Given the description of an element on the screen output the (x, y) to click on. 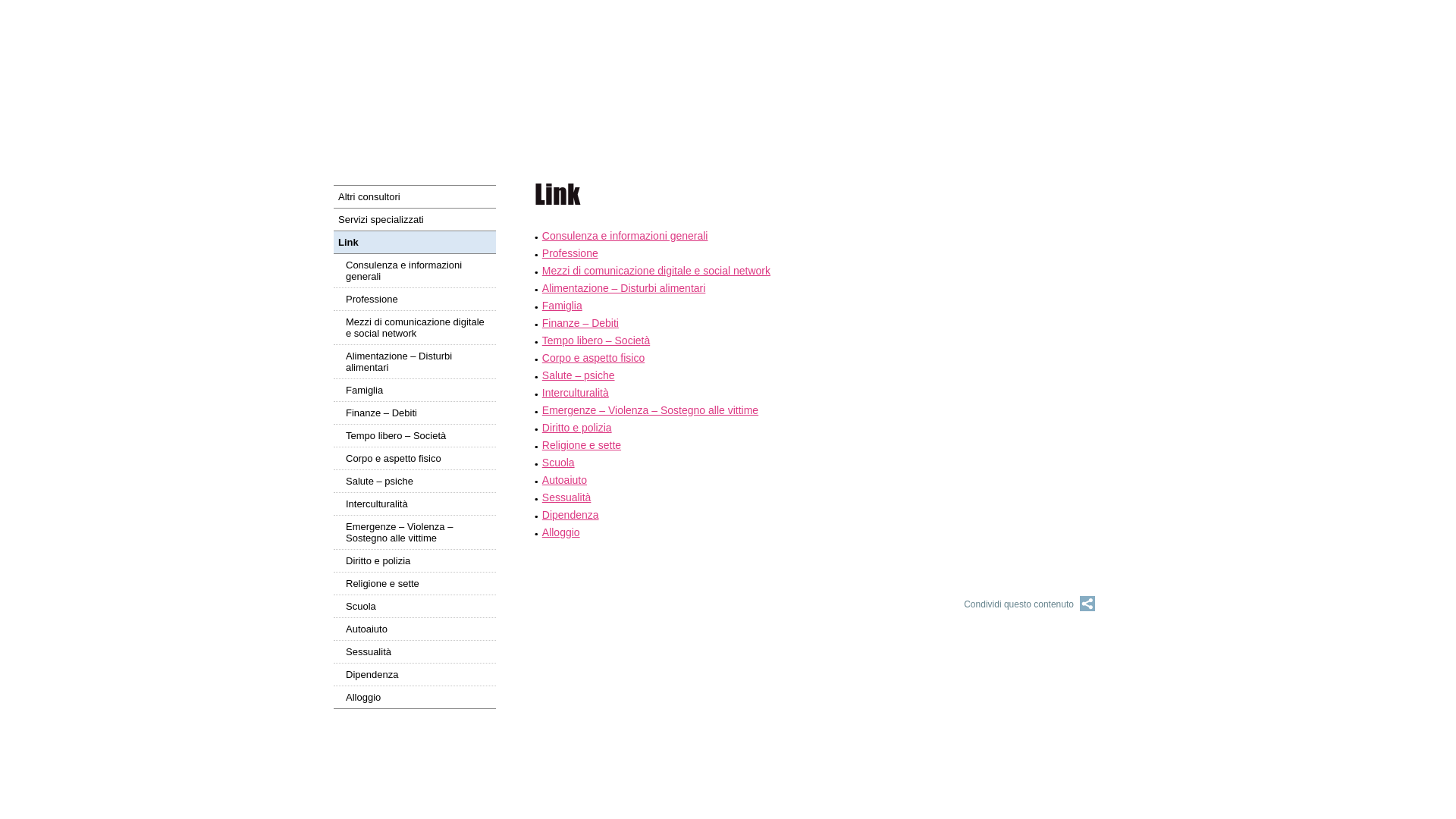
Autoaiuto Element type: text (414, 628)
Consulenza e informazioni generali Element type: text (625, 235)
Corpo e aspetto fisico Element type: text (593, 357)
Mezzi di comunicazione digitale e social network Element type: text (656, 270)
Religione e sette Element type: text (414, 582)
Corpo e aspetto fisico Element type: text (414, 457)
Professione Element type: text (414, 298)
Alloggio Element type: text (561, 532)
Link Element type: text (414, 241)
Altri consultori Element type: text (414, 196)
Autoaiuto Element type: text (564, 479)
Famiglia Element type: text (562, 305)
Professione Element type: text (570, 253)
Diritto e polizia Element type: text (414, 560)
Religione e sette Element type: text (581, 445)
Dipendenza Element type: text (414, 673)
Diritto e polizia Element type: text (576, 427)
Mezzi di comunicazione digitale e social network Element type: text (414, 327)
Dipendenza Element type: text (570, 514)
Servizi specializzati Element type: text (414, 218)
Scuola Element type: text (558, 462)
Famiglia Element type: text (414, 389)
Alloggio Element type: text (414, 696)
Scuola Element type: text (414, 605)
Consulenza e informazioni generali Element type: text (414, 270)
